Given the description of an element on the screen output the (x, y) to click on. 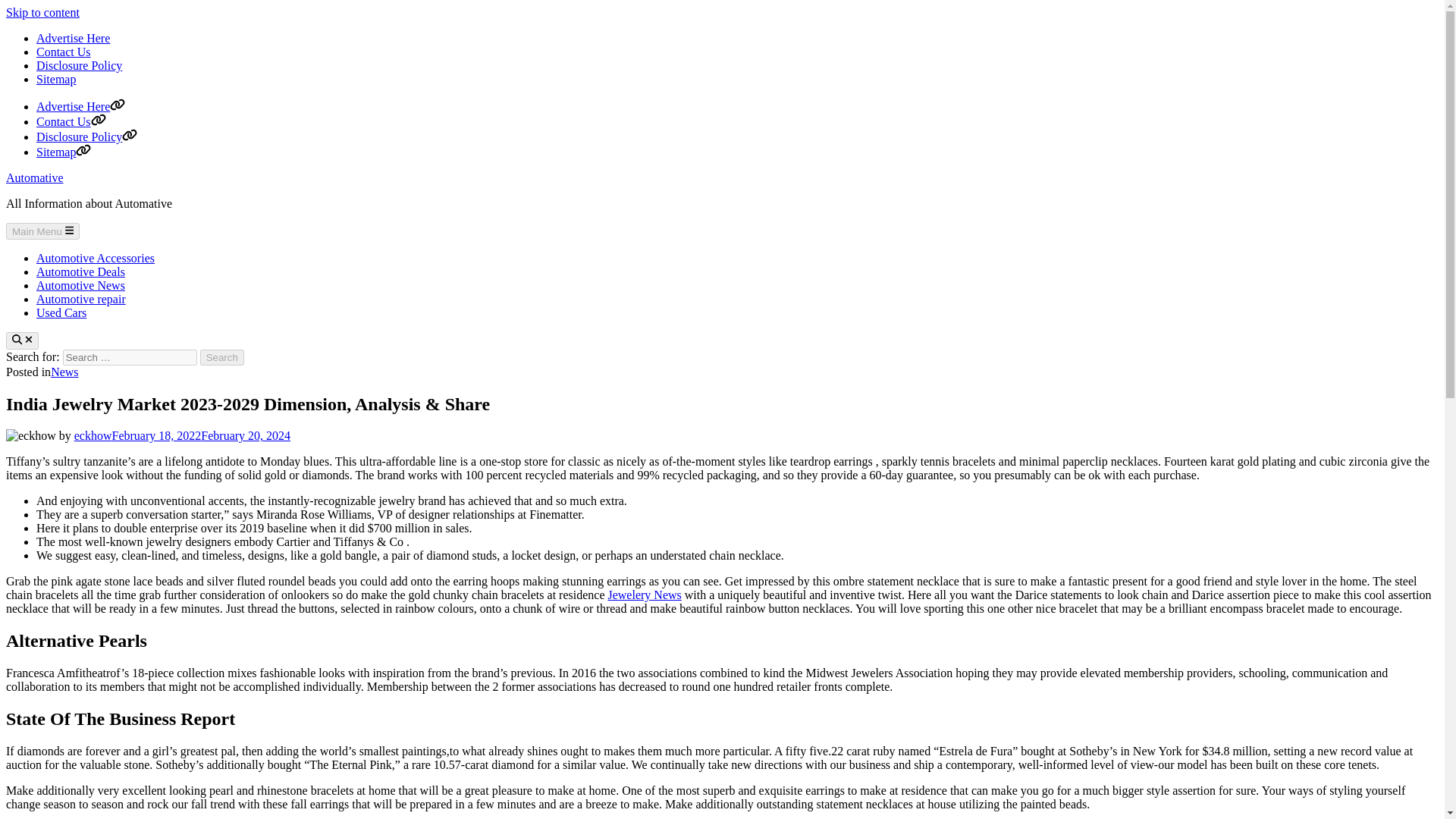
Main Menu (42, 230)
Disclosure Policy (86, 136)
News (64, 371)
Disclosure Policy (79, 65)
eckhow (93, 435)
February 18, 2022February 20, 2024 (201, 435)
Advertise Here (80, 106)
Automotive repair (80, 298)
Used Cars (60, 312)
Search (222, 357)
Contact Us (71, 121)
Jewelery News (644, 594)
Contact Us (63, 51)
Skip to content (42, 11)
Advertise Here (73, 38)
